Given the description of an element on the screen output the (x, y) to click on. 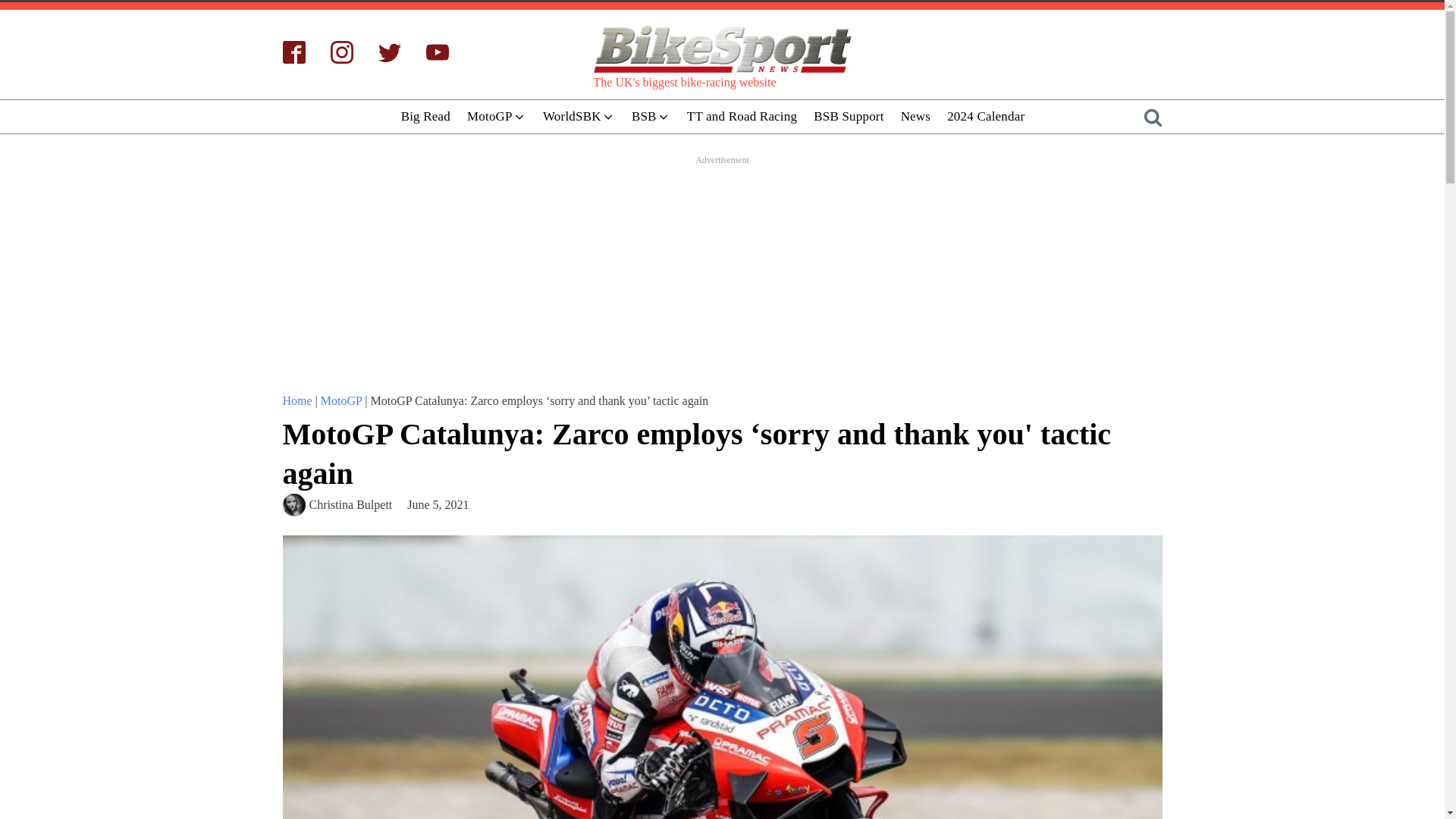
2024 Calendar (985, 116)
WorldSBK (578, 116)
BSB Support (848, 116)
Big Read (425, 116)
MotoGP (341, 400)
News (915, 116)
TT and Road Racing (741, 116)
Christina Bulpett (350, 505)
MotoGP (496, 116)
Home (296, 400)
